Given the description of an element on the screen output the (x, y) to click on. 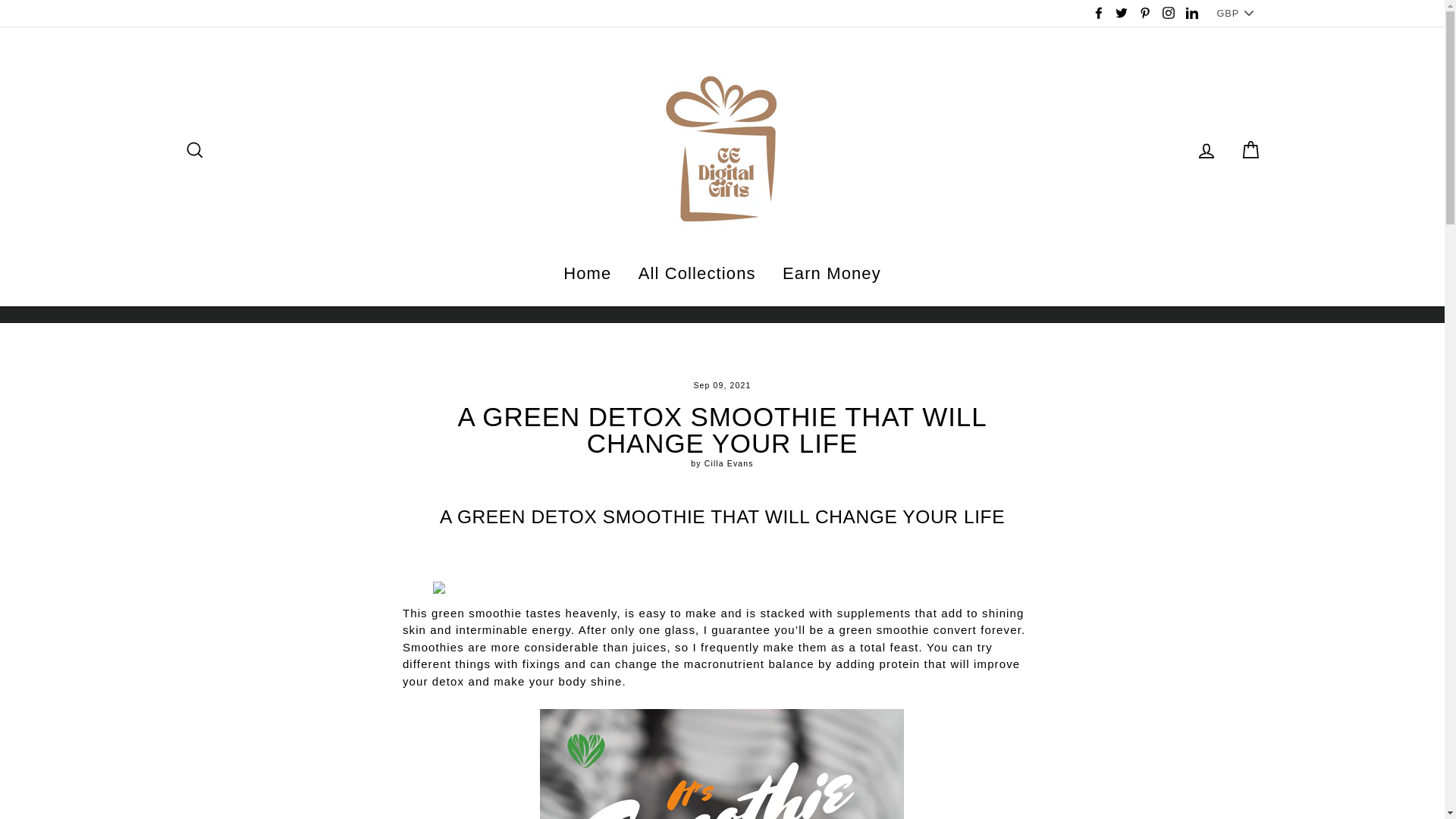
Earn Money (831, 272)
CEdigitalgifts  on Twitter (1121, 13)
LinkedIn (1190, 13)
Instagram (1167, 13)
Pinterest (1144, 13)
Facebook (1098, 13)
CEdigitalgifts  on Facebook (1098, 13)
Search (194, 148)
CEdigitalgifts  on Instagram (1167, 13)
All Collections (697, 272)
CEdigitalgifts  on LinkedIn (1190, 13)
Log in (1205, 148)
CEdigitalgifts  on Pinterest (1144, 13)
Home (587, 272)
